Given the description of an element on the screen output the (x, y) to click on. 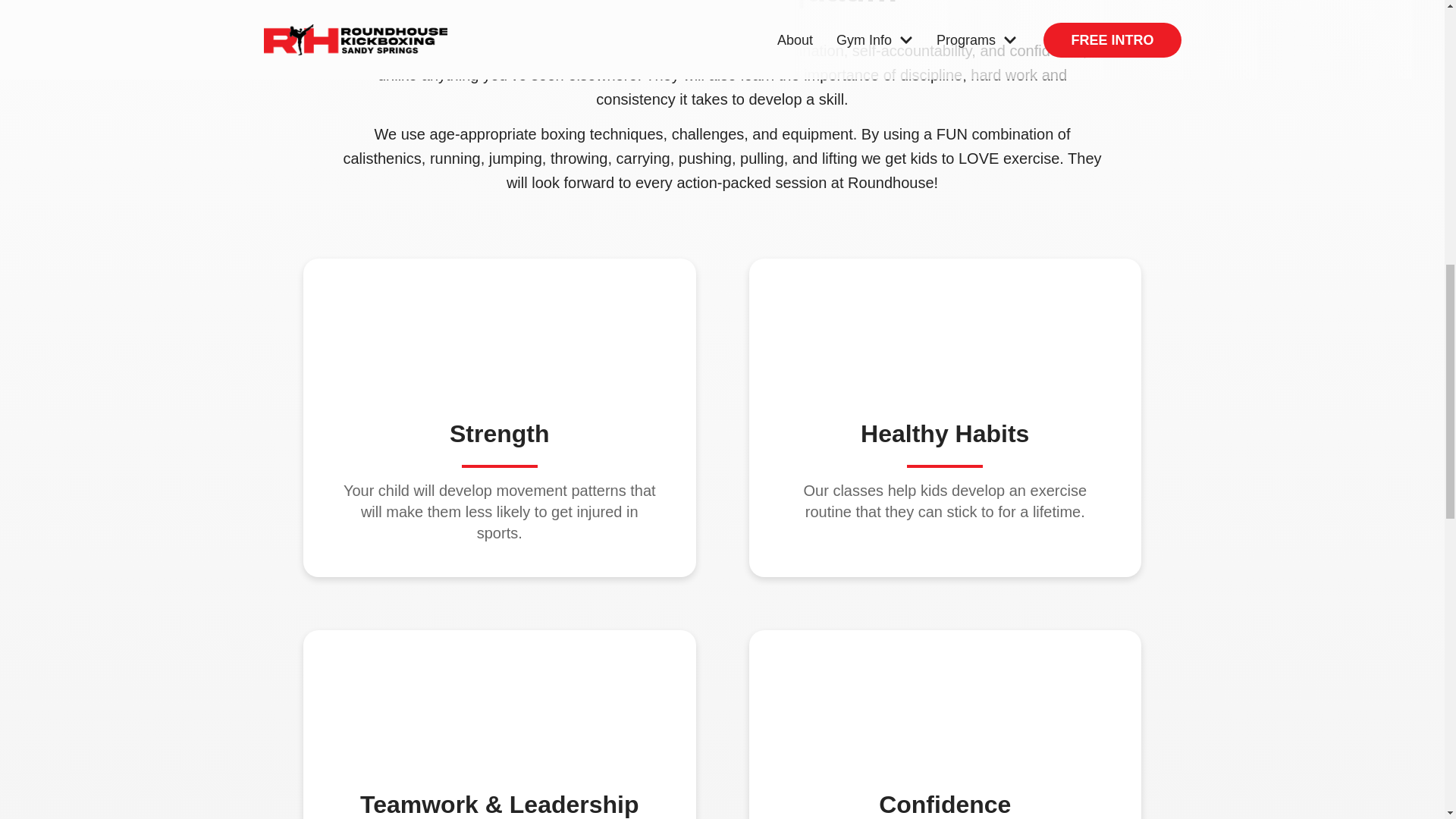
Kids Program 2 (498, 325)
Kids Program 5 (945, 696)
Kids Program 3 (945, 325)
Kids Program 4 (498, 696)
